Given the description of an element on the screen output the (x, y) to click on. 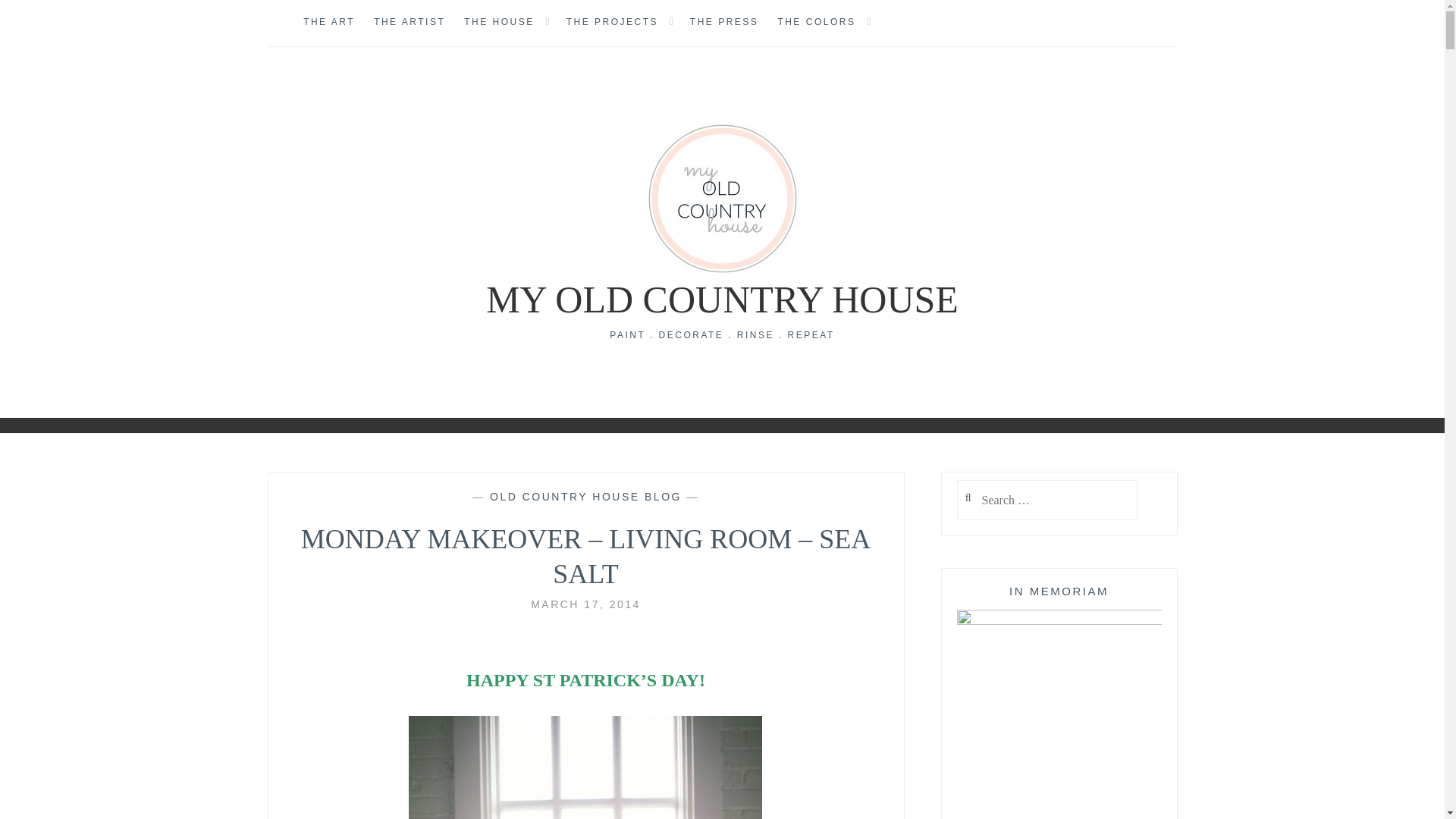
THE ART (328, 22)
THE HOUSE (499, 22)
THE ARTIST (409, 22)
THE PROJECTS (612, 22)
THE PRESS (724, 22)
THE COLORS (816, 22)
